Given the description of an element on the screen output the (x, y) to click on. 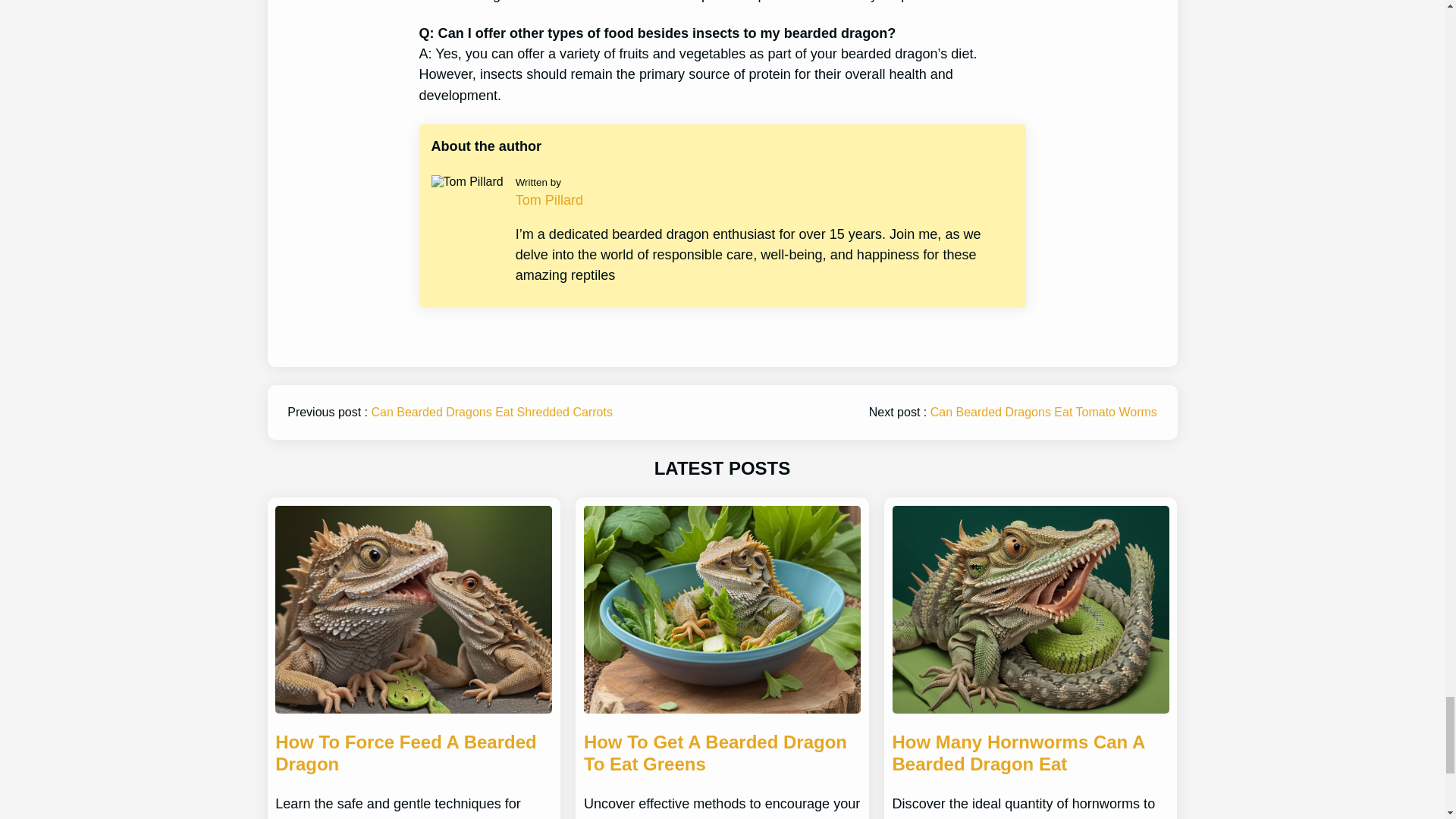
How To Force Feed A Bearded Dragon (413, 753)
Tom Pillard (549, 200)
Can Bearded Dragons Eat Tomato Worms (1043, 411)
Can Bearded Dragons Eat Shredded Carrots (491, 411)
